Given the description of an element on the screen output the (x, y) to click on. 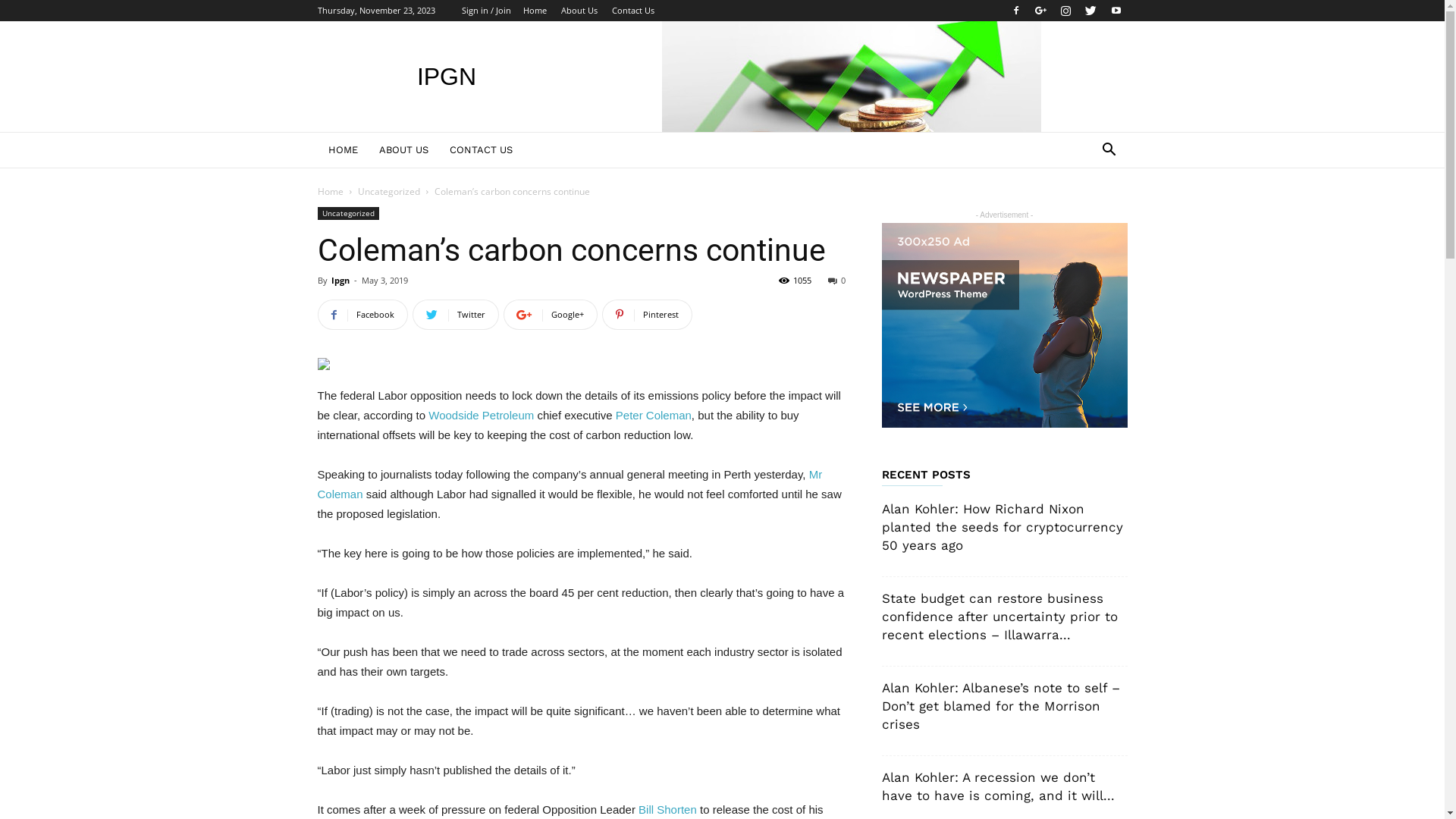
ABOUT US Element type: text (403, 149)
Contact Us Element type: text (632, 9)
Peter Coleman Element type: text (653, 414)
Woodside Petroleum Element type: text (480, 414)
Twitter Element type: hover (1090, 10)
CONTACT US Element type: text (480, 149)
0 Element type: text (836, 279)
Uncategorized Element type: text (347, 213)
Google+ Element type: text (550, 314)
Mr Coleman Element type: text (569, 483)
Google+ Element type: hover (1040, 10)
About Us Element type: text (579, 9)
Search Element type: text (1085, 210)
Home Element type: text (329, 191)
Youtube Element type: hover (1115, 10)
Instagram Element type: hover (1065, 10)
Uncategorized Element type: text (388, 191)
Facebook Element type: text (361, 314)
Ipgn Element type: text (339, 279)
Facebook Element type: hover (1015, 10)
Sign in / Join Element type: text (485, 9)
Twitter Element type: text (455, 314)
Home Element type: text (534, 9)
HOME Element type: text (341, 149)
Pinterest Element type: text (647, 314)
Bill Shorten Element type: text (667, 809)
